Given the description of an element on the screen output the (x, y) to click on. 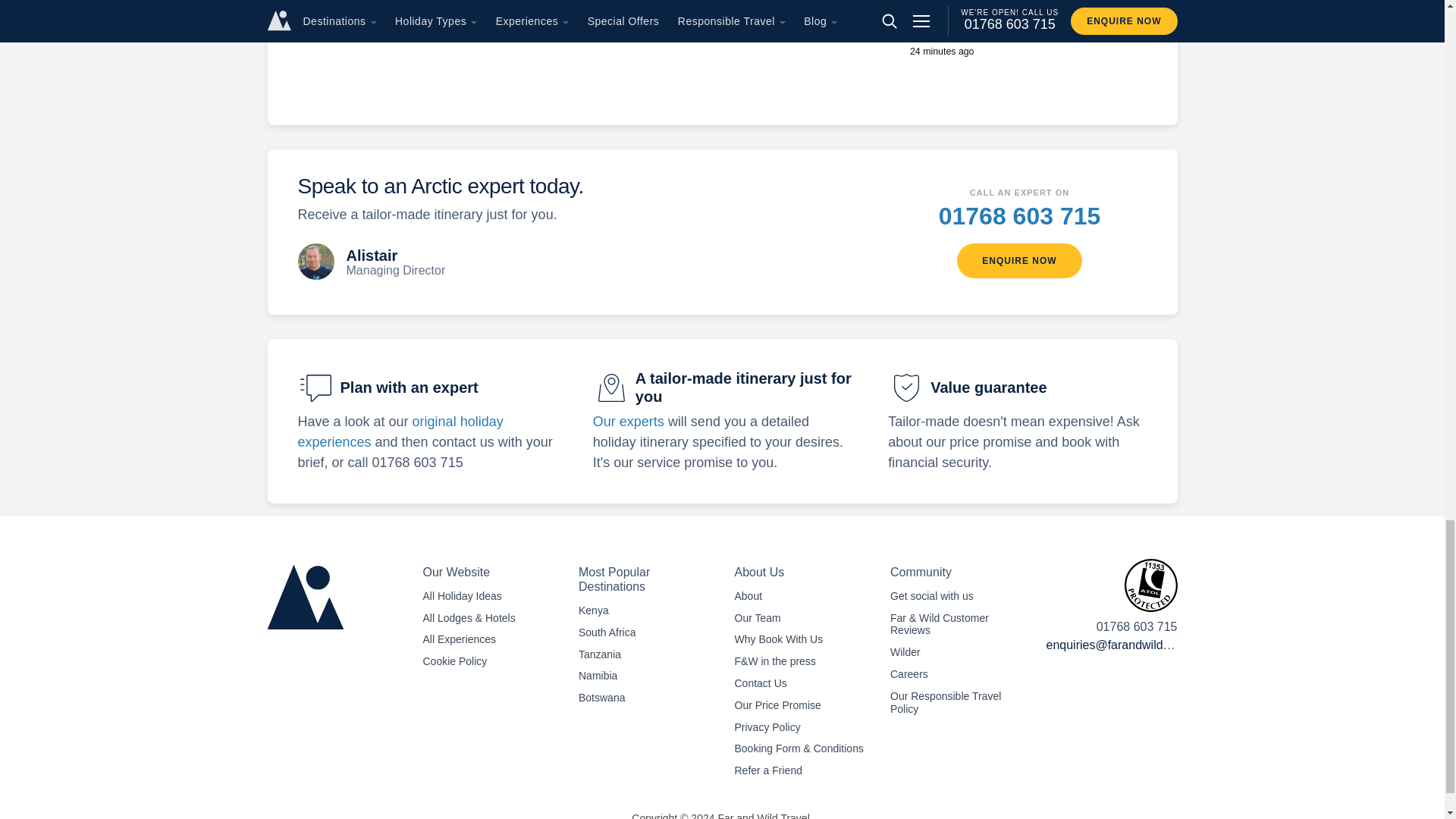
Alistair (315, 261)
Read more reviews on REVIEWS.io (491, 31)
